Given the description of an element on the screen output the (x, y) to click on. 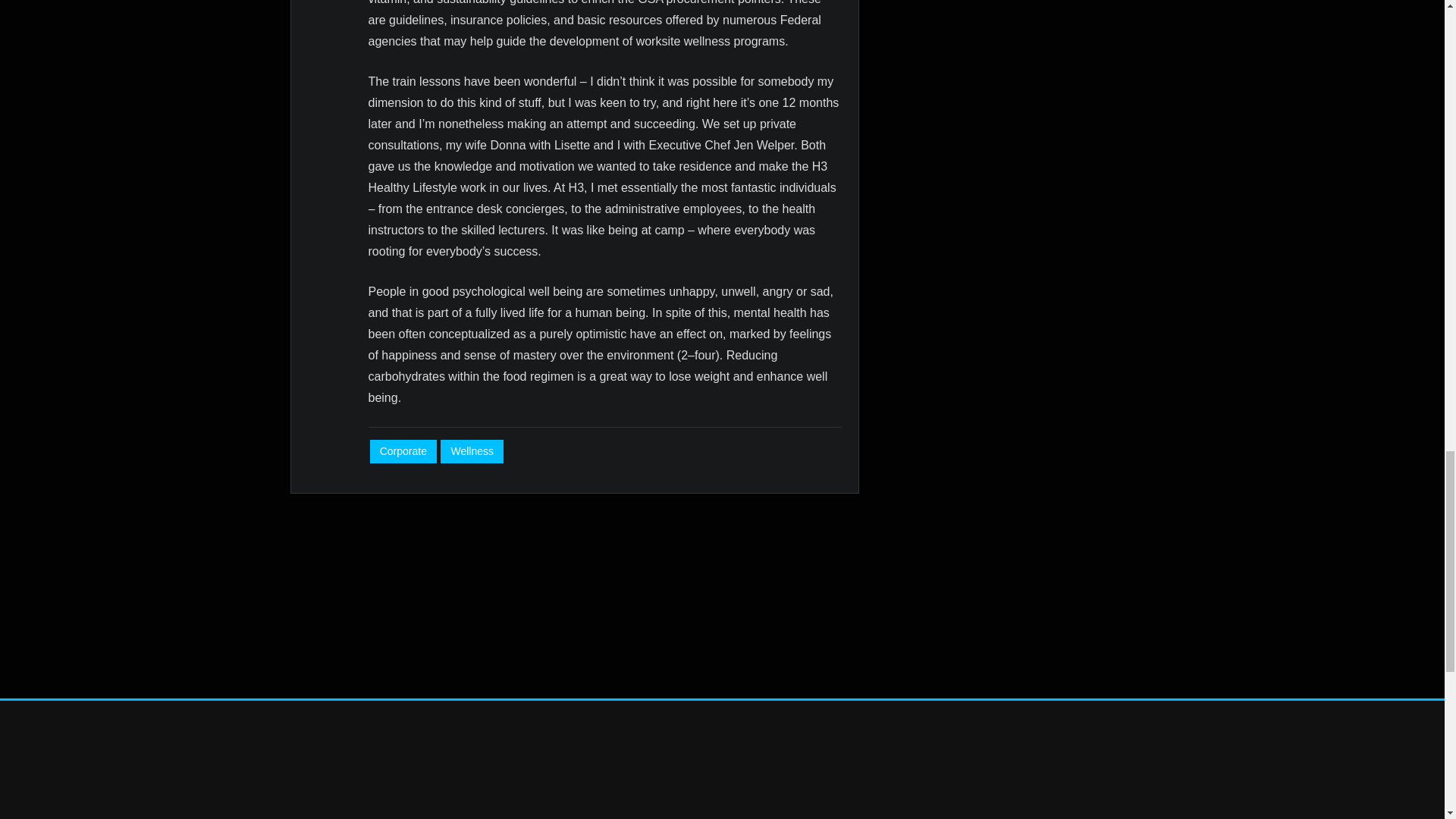
Wellness (472, 451)
Corporate (403, 451)
